Given the description of an element on the screen output the (x, y) to click on. 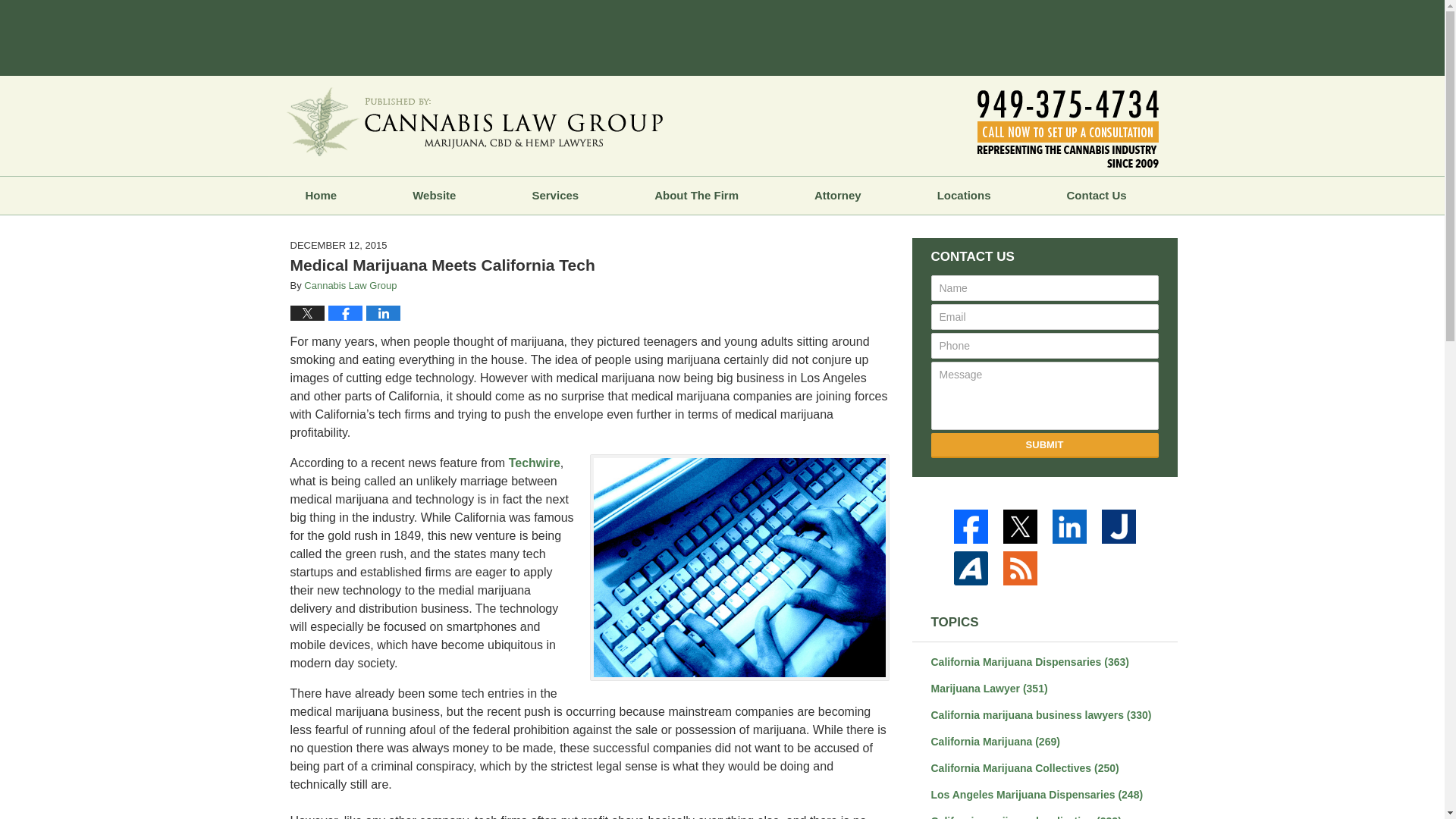
Feed (1022, 568)
Published By Cannabis Law Group (1066, 128)
About The Firm (695, 195)
Contact Us (1096, 195)
Locations (964, 195)
Twitter (1022, 526)
AVVO (972, 568)
LinkedIn (1072, 526)
Cannabis Law Group (350, 285)
Techwire (534, 462)
Services (554, 195)
Website (433, 195)
Home (320, 195)
Please enter a valid phone number. (1044, 345)
Attorney (837, 195)
